Given the description of an element on the screen output the (x, y) to click on. 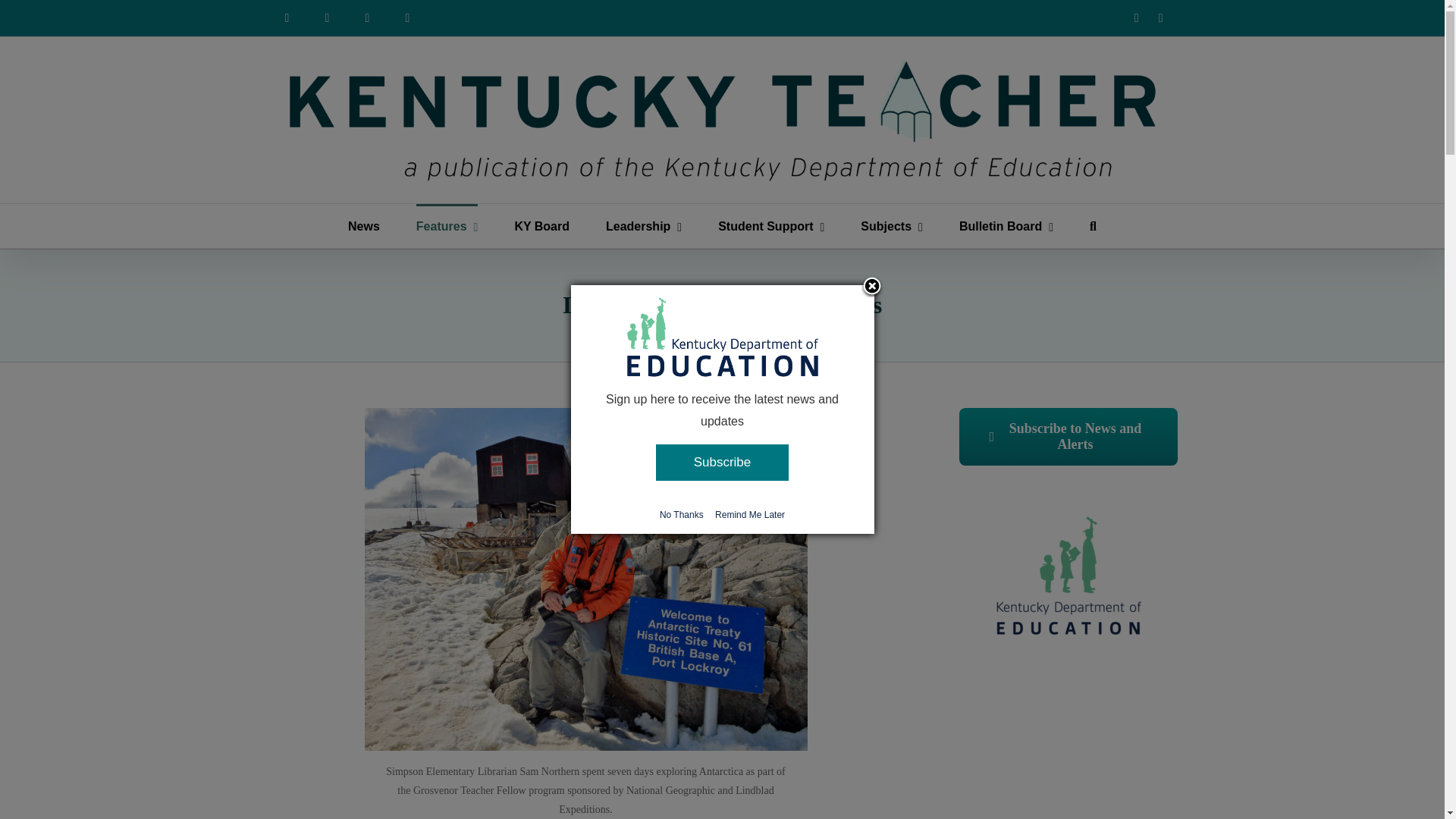
Contact (408, 18)
About (327, 18)
Student Support (770, 225)
Subjects (891, 225)
Home (285, 18)
Staff (367, 18)
Leadership (643, 225)
Features (447, 225)
KY Board (541, 225)
Bulletin Board (1005, 225)
